Given the description of an element on the screen output the (x, y) to click on. 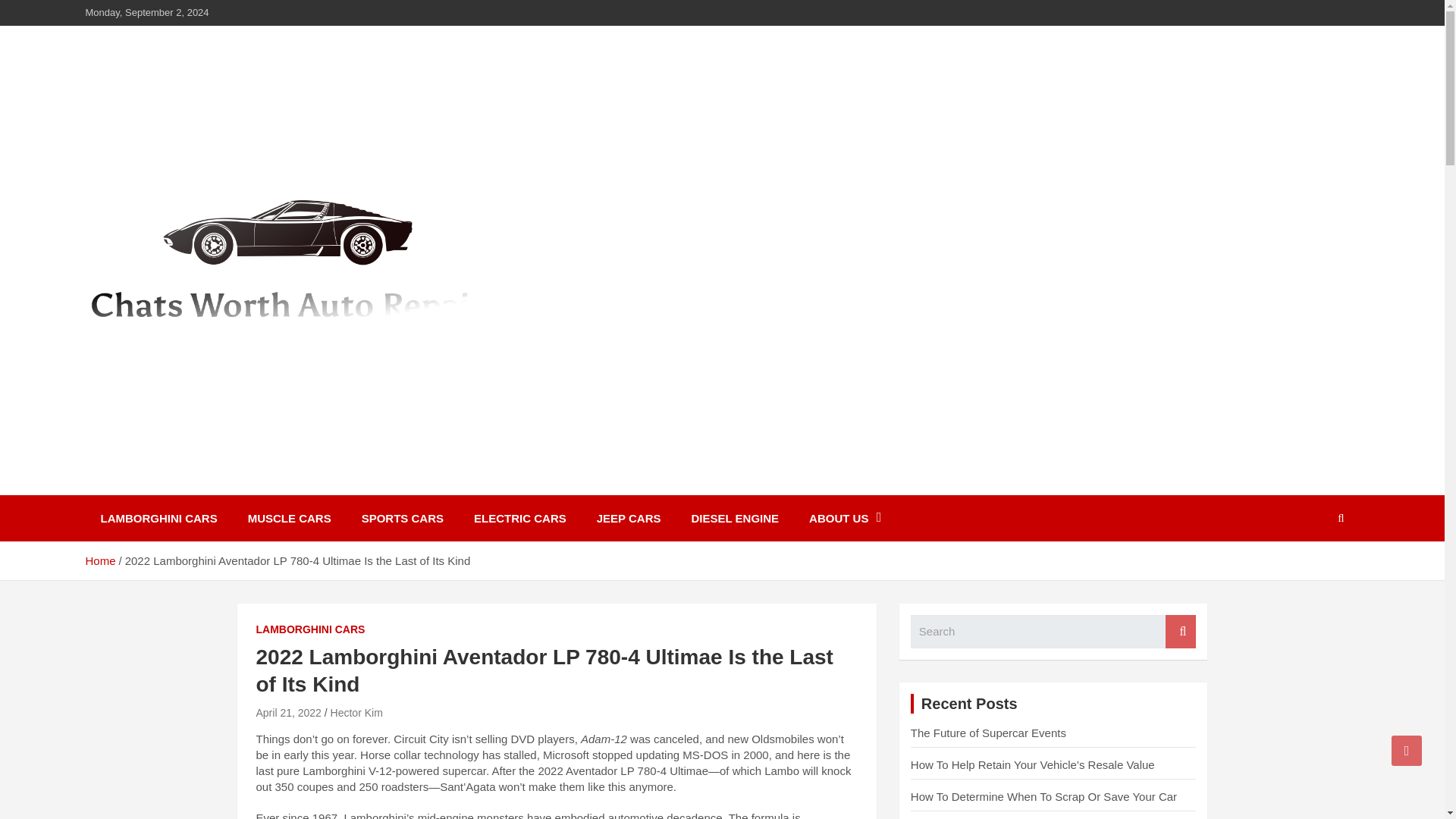
JEEP CARS (628, 518)
SPORTS CARS (402, 518)
How To Determine When To Scrap Or Save Your Car (1043, 796)
LAMBORGHINI CARS (310, 630)
April 21, 2022 (288, 712)
LAMBORGHINI CARS (157, 518)
DIESEL ENGINE (734, 518)
Hector Kim (356, 712)
ABOUT US (844, 518)
Go to Top (1406, 750)
